Given the description of an element on the screen output the (x, y) to click on. 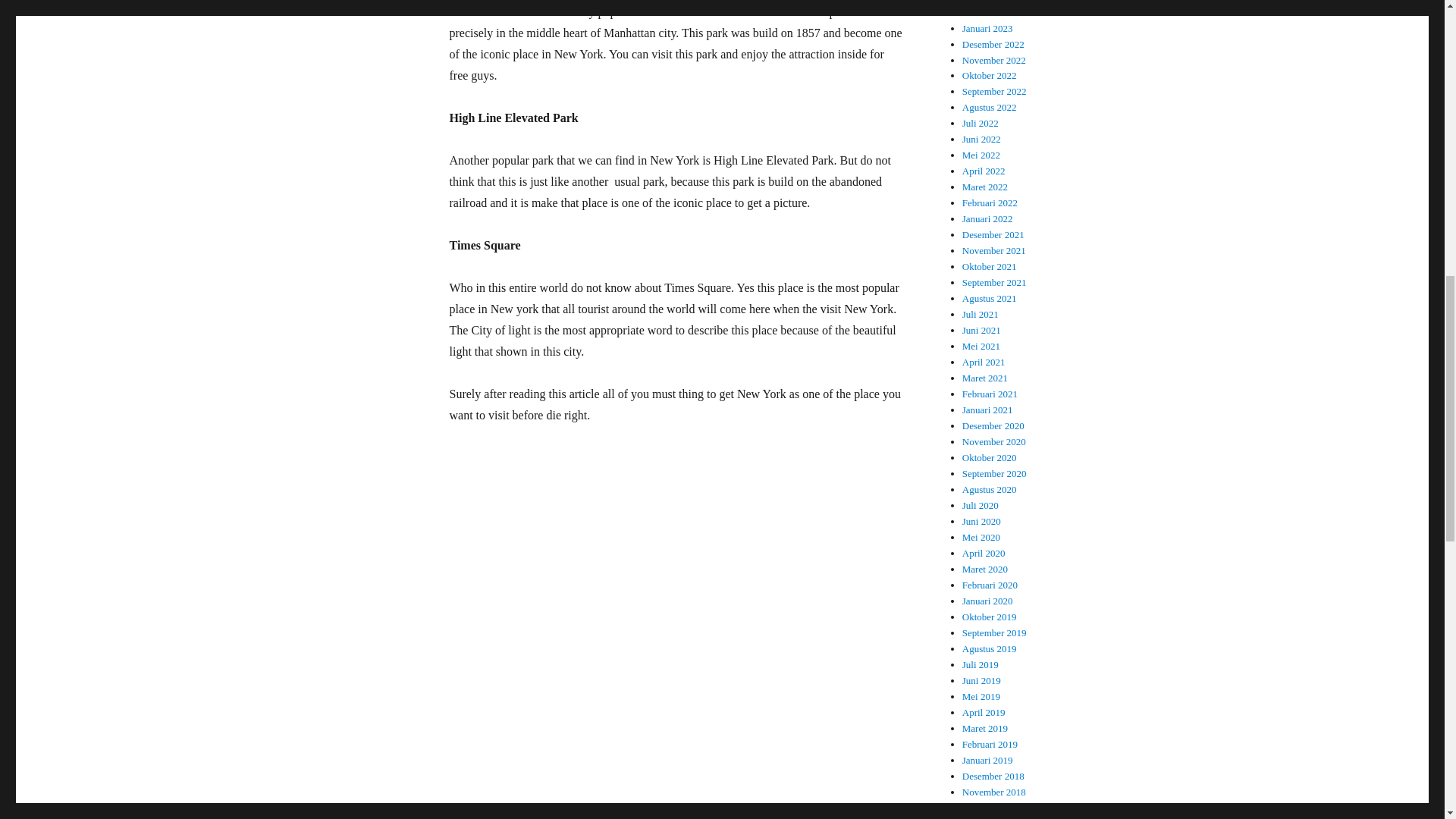
Maret 2023 (984, 1)
November 2022 (994, 60)
Januari 2023 (987, 28)
Oktober 2022 (989, 75)
Februari 2023 (989, 12)
Desember 2022 (993, 43)
